Given the description of an element on the screen output the (x, y) to click on. 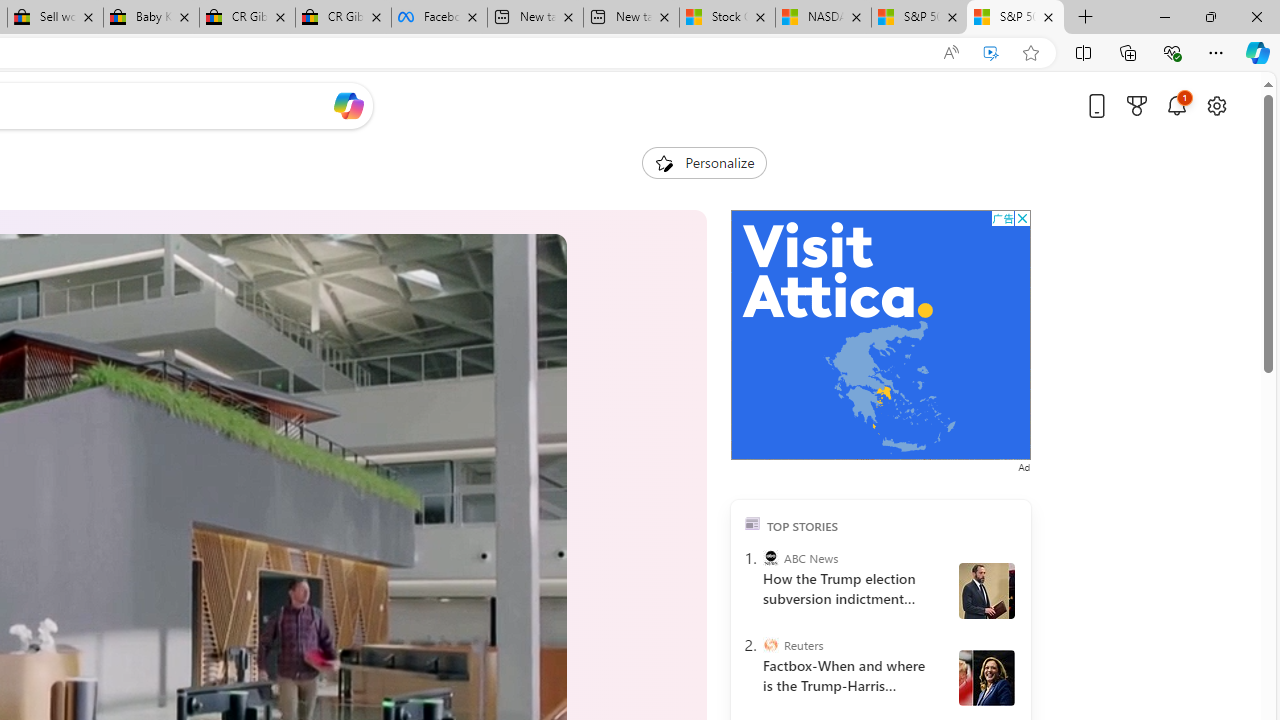
Advertisement (879, 335)
Facebook (439, 17)
Baby Keepsakes & Announcements for sale | eBay (150, 17)
Microsoft rewards (1137, 105)
AutomationID: cbb (1021, 218)
